Given the description of an element on the screen output the (x, y) to click on. 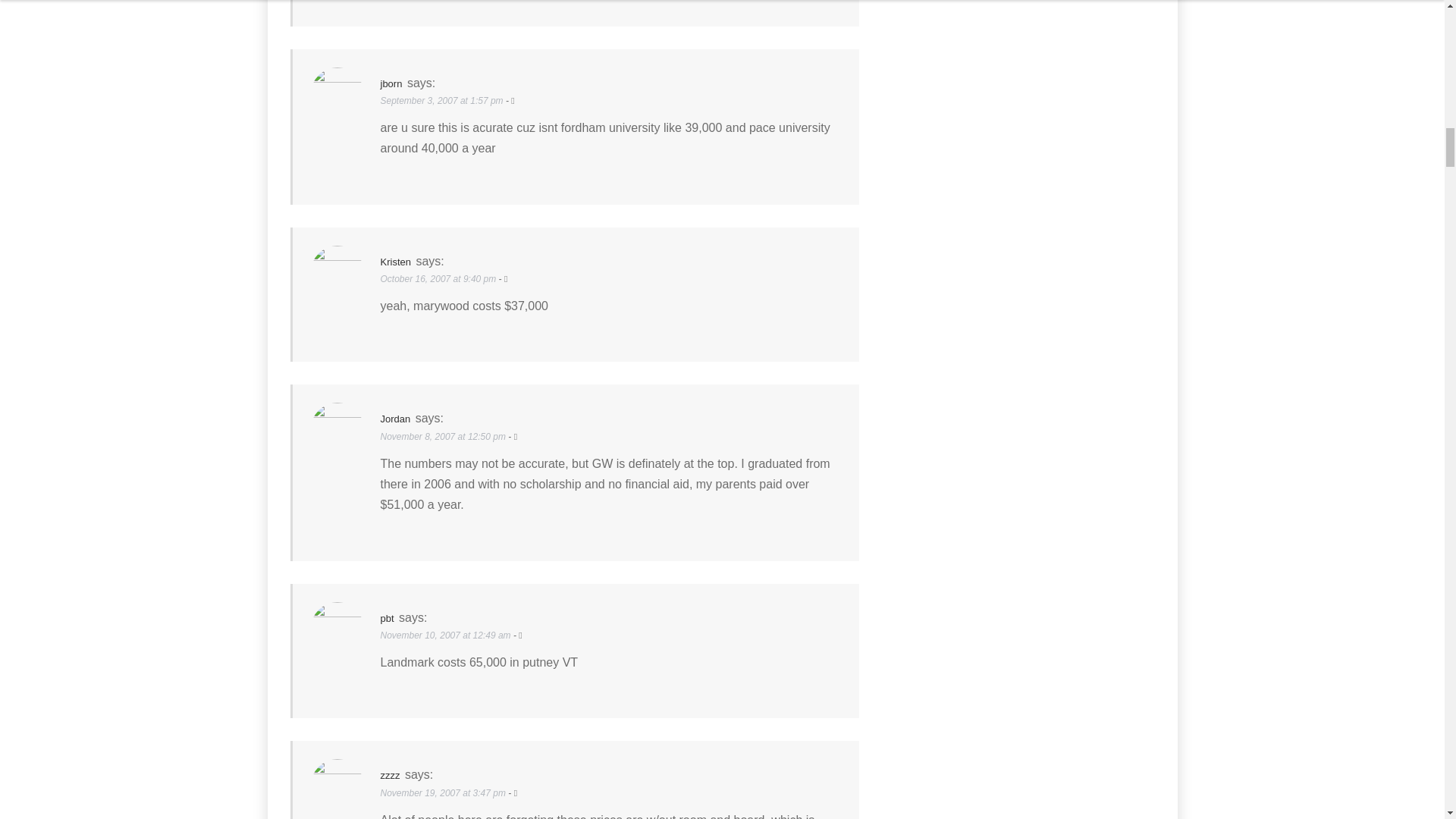
November 8, 2007 at 12:50 pm (444, 436)
October 16, 2007 at 9:40 pm (439, 278)
September 3, 2007 at 1:57 pm (442, 100)
November 10, 2007 at 12:49 am (446, 634)
October 16, 2007 at 9:40 pm (439, 278)
November 19, 2007 at 3:47 pm (444, 792)
November 19, 2007 at 3:47 pm (444, 792)
November 10, 2007 at 12:49 am (446, 634)
September 3, 2007 at 1:57 pm (442, 100)
November 8, 2007 at 12:50 pm (444, 436)
